Given the description of an element on the screen output the (x, y) to click on. 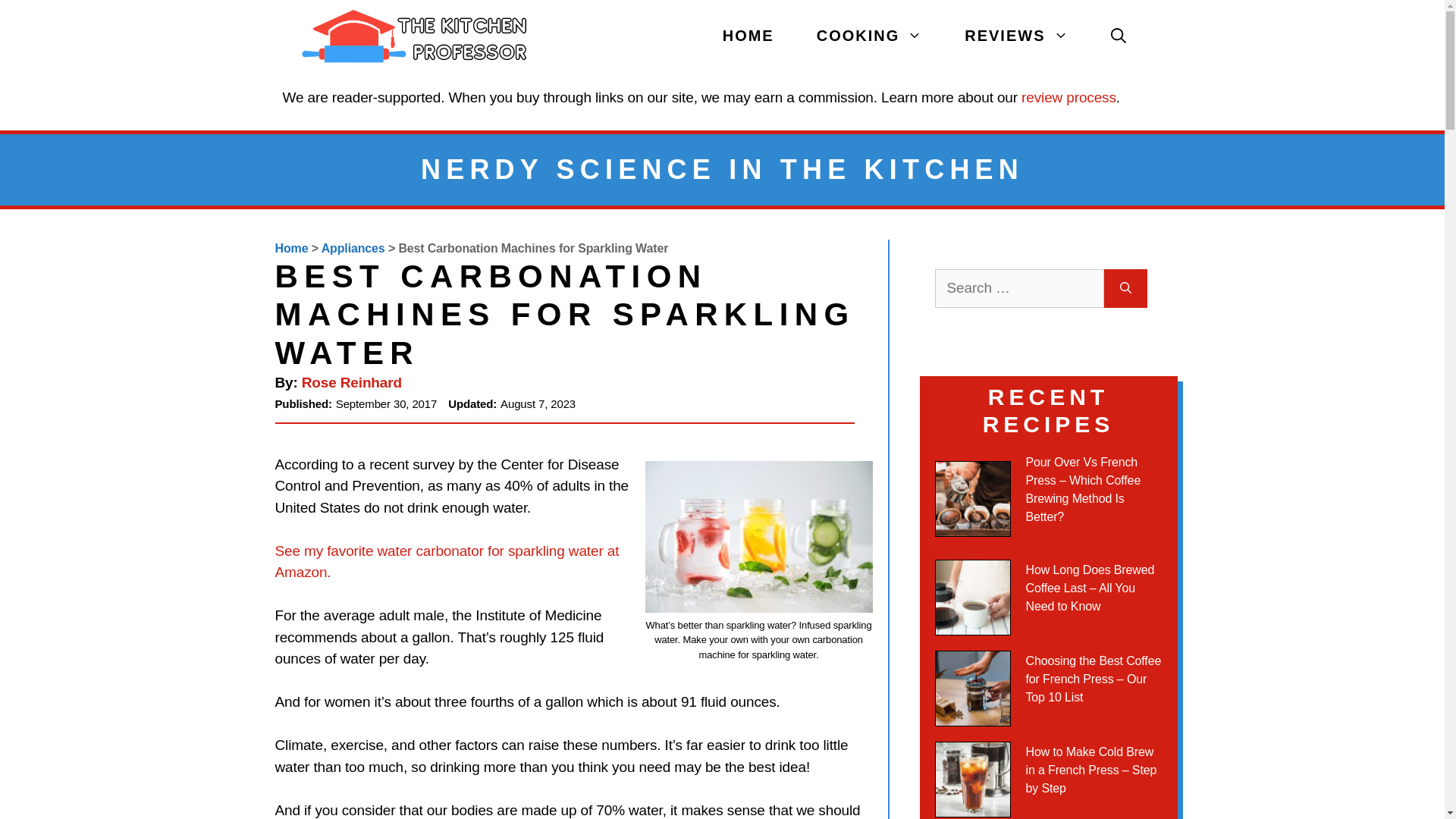
COOKING (868, 36)
REVIEWS (1016, 36)
HOME (747, 36)
